Given the description of an element on the screen output the (x, y) to click on. 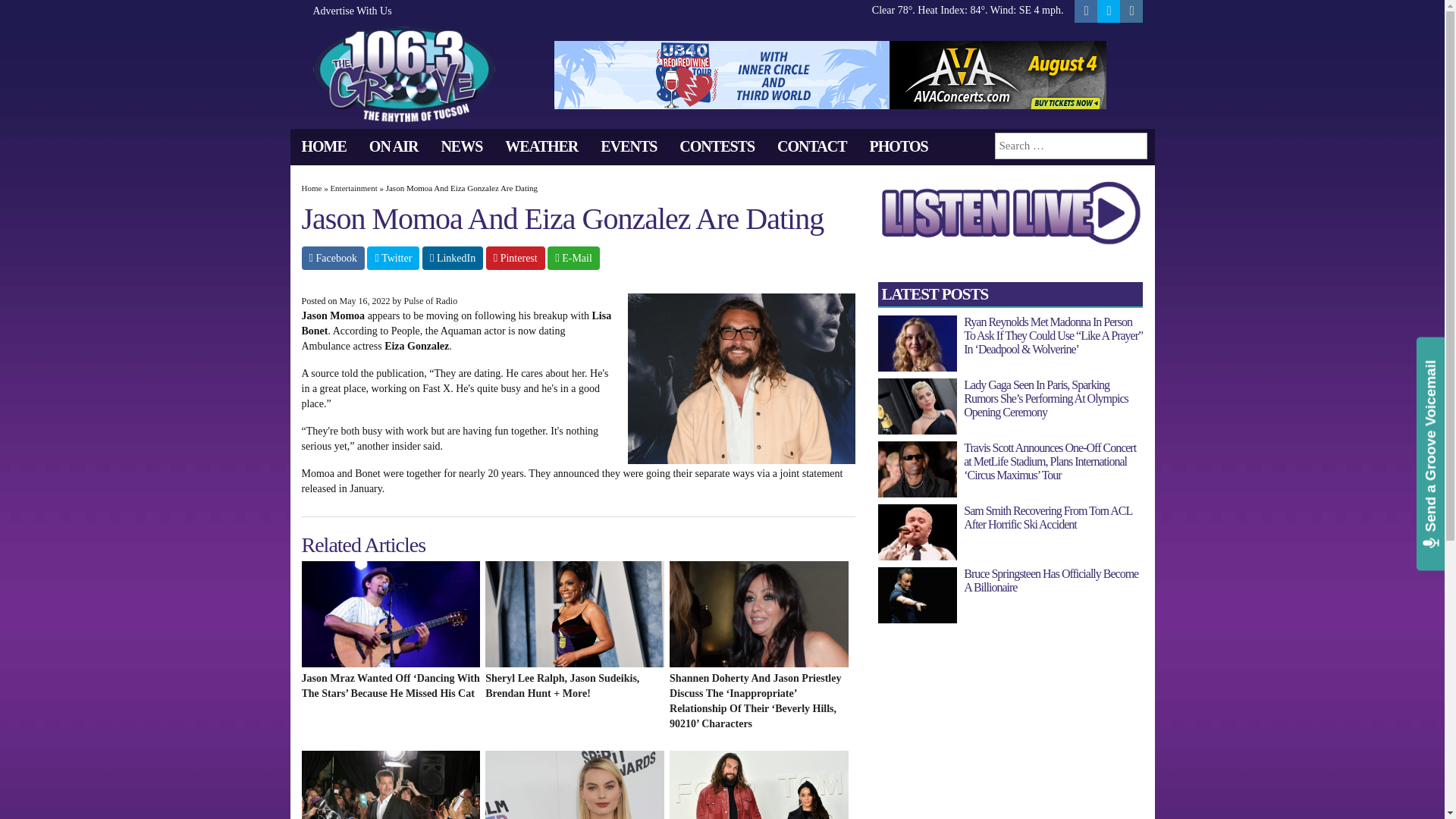
Advertise With Us (346, 10)
Home (311, 187)
Share to LinkedIn (452, 258)
Share to Facebook (333, 258)
ON AIR (393, 146)
106.3 The Groove (404, 73)
View all posts by Pulse of Radio (431, 300)
Pinterest (515, 258)
Pulse of Radio (431, 300)
HOME (322, 146)
CONTESTS (716, 146)
Share to Pinterest (515, 258)
Facebook (333, 258)
2:21 am (364, 300)
PHOTOS (899, 146)
